Given the description of an element on the screen output the (x, y) to click on. 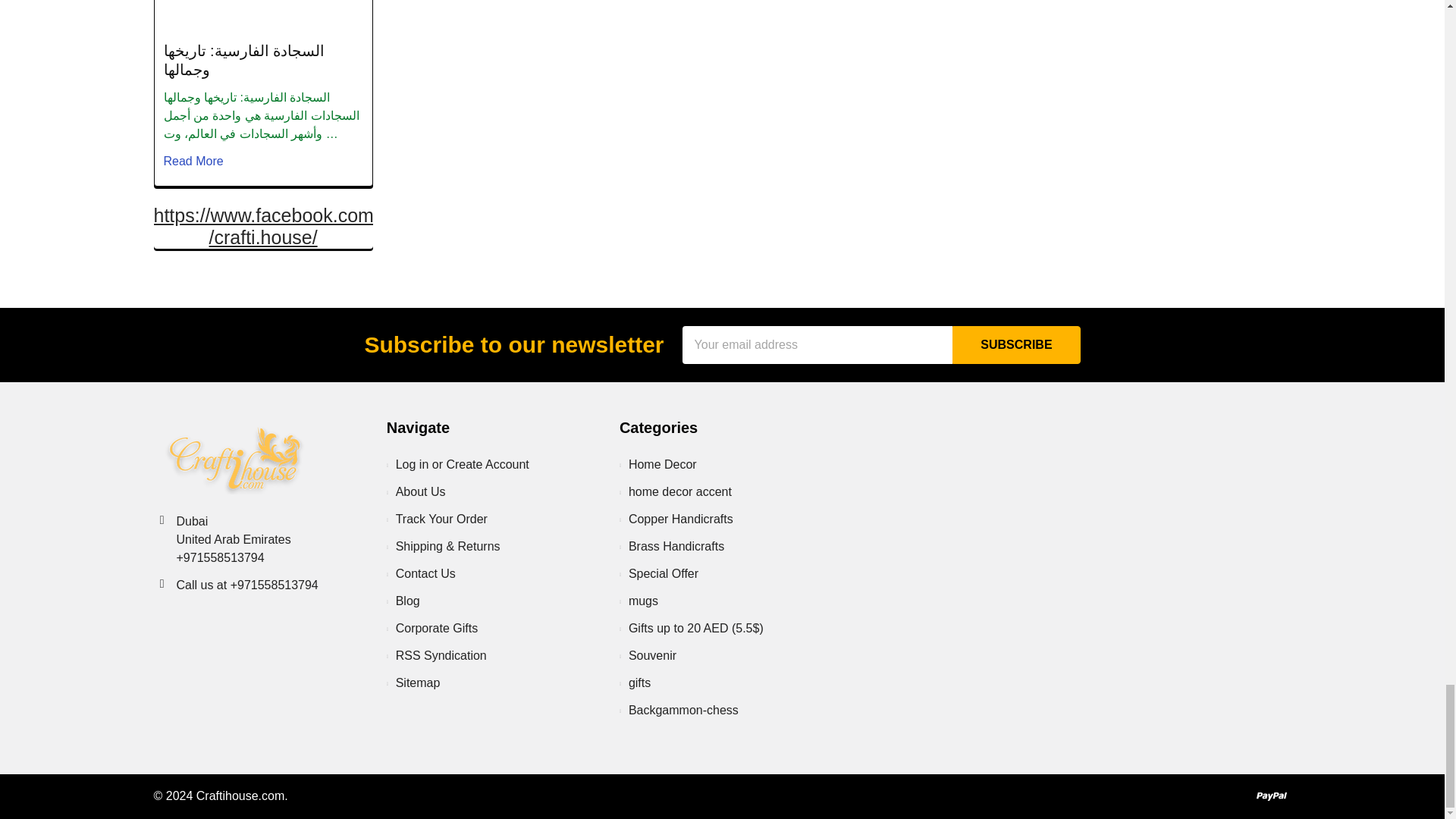
Subscribe (1016, 344)
